Given the description of an element on the screen output the (x, y) to click on. 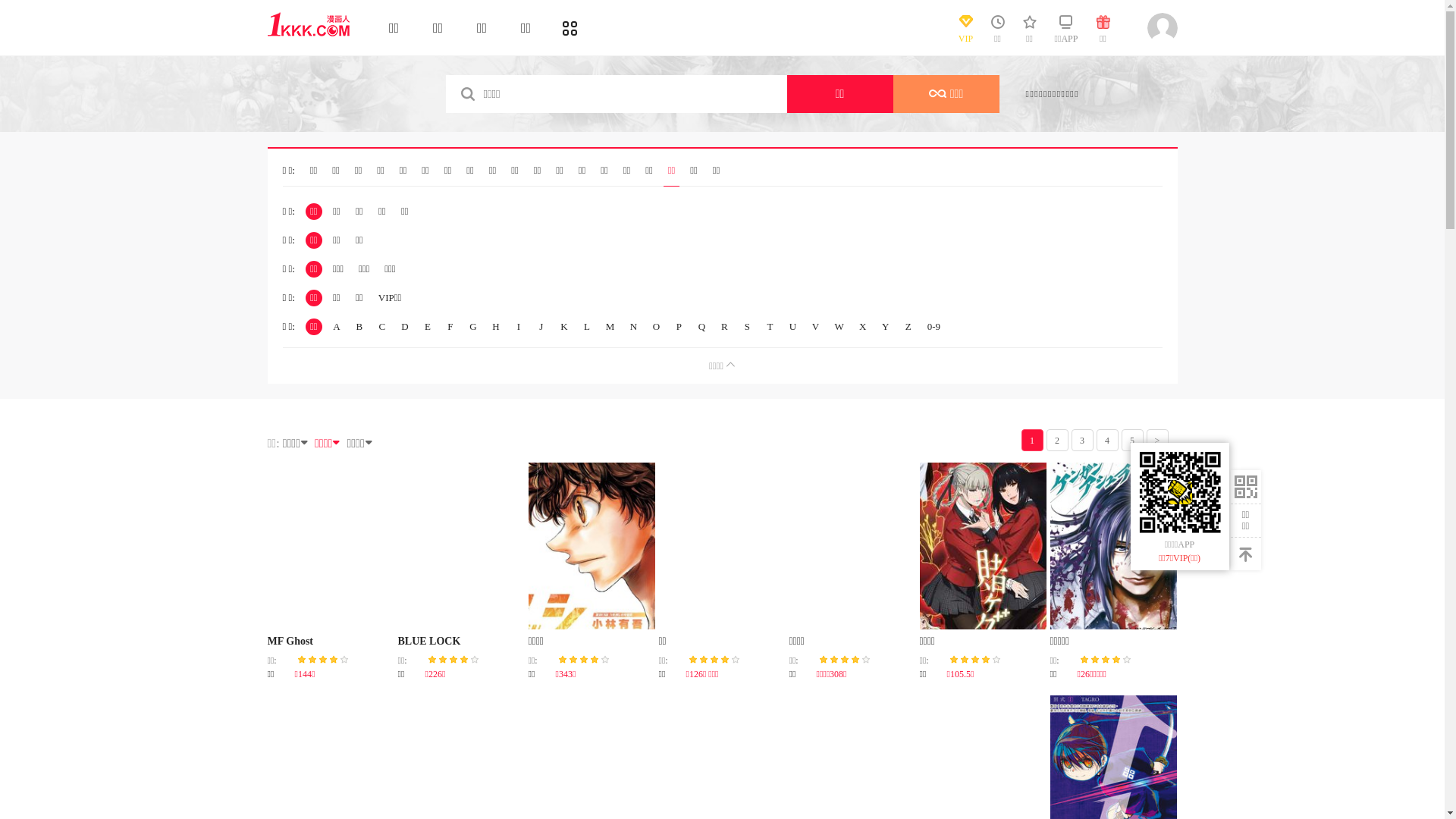
U Element type: text (792, 326)
2 Element type: text (1057, 440)
X Element type: text (862, 326)
L Element type: text (586, 326)
B Element type: text (359, 326)
VIP Element type: text (965, 32)
O Element type: text (655, 326)
G Element type: text (472, 326)
1 Element type: text (1031, 440)
M Element type: text (610, 326)
D Element type: text (404, 326)
Y Element type: text (885, 326)
T Element type: text (769, 326)
BLUE LOCK Element type: text (428, 640)
P Element type: text (678, 326)
J Element type: text (541, 326)
Z Element type: text (908, 326)
0-9 Element type: text (933, 326)
A Element type: text (336, 326)
V Element type: text (814, 326)
I Element type: text (518, 326)
E Element type: text (427, 326)
3 Element type: text (1081, 440)
> Element type: text (1157, 440)
K Element type: text (563, 326)
R Element type: text (723, 326)
C Element type: text (381, 326)
5 Element type: text (1131, 440)
W Element type: text (838, 326)
S Element type: text (746, 326)
MF Ghost Element type: text (289, 640)
F Element type: text (450, 326)
4 Element type: text (1107, 440)
H Element type: text (495, 326)
N Element type: text (632, 326)
Q Element type: text (701, 326)
